Given the description of an element on the screen output the (x, y) to click on. 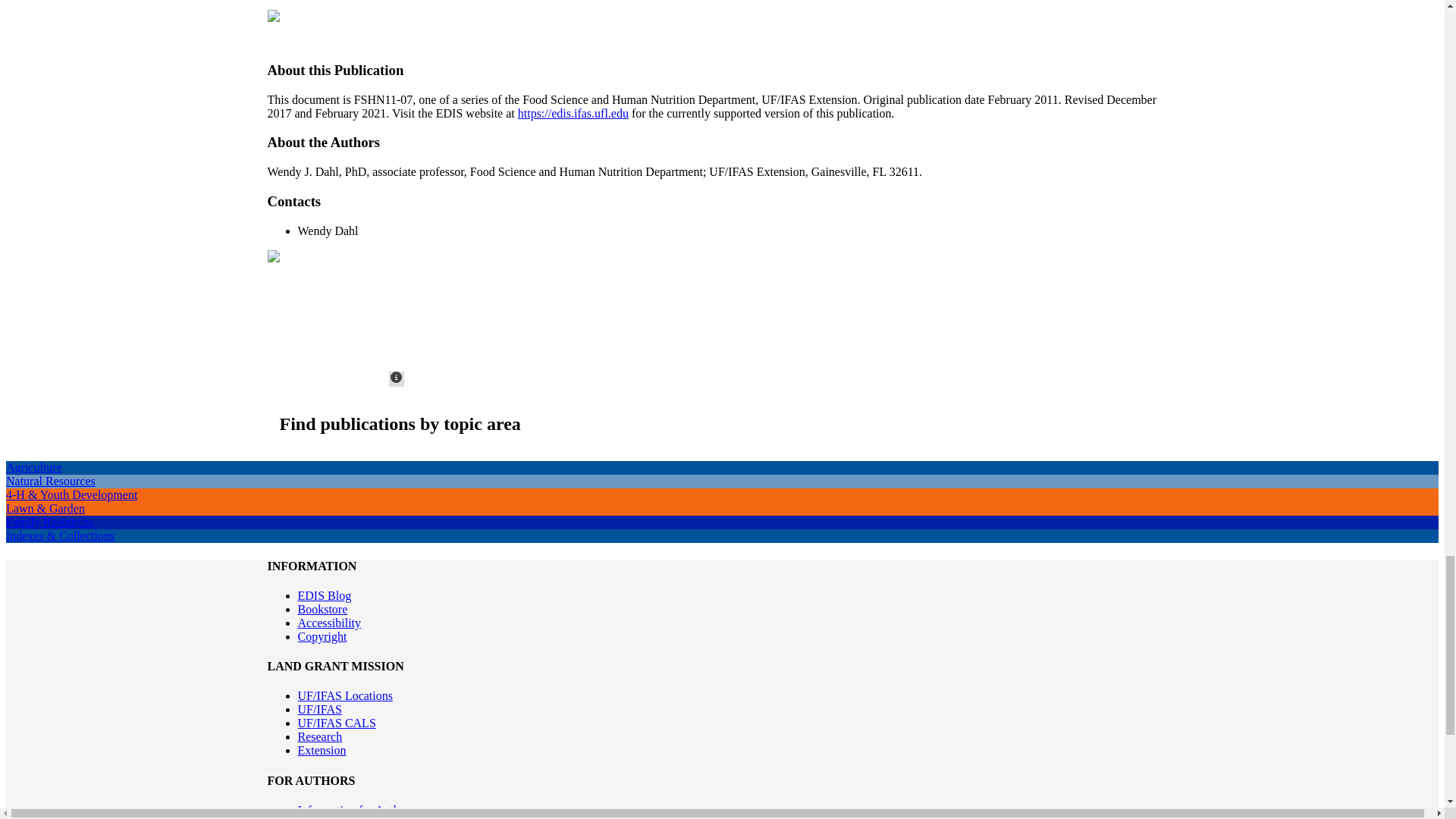
Accessibility (329, 622)
Family Resources (49, 521)
Copyright (321, 635)
EDIS Blog (323, 594)
Copyright (321, 635)
EDIS Blog (323, 594)
Agriculture (33, 467)
Bookstore (322, 608)
Accessibility (329, 622)
College of Agricultural and Life Sciences (336, 722)
Natural Resources (50, 481)
